Given the description of an element on the screen output the (x, y) to click on. 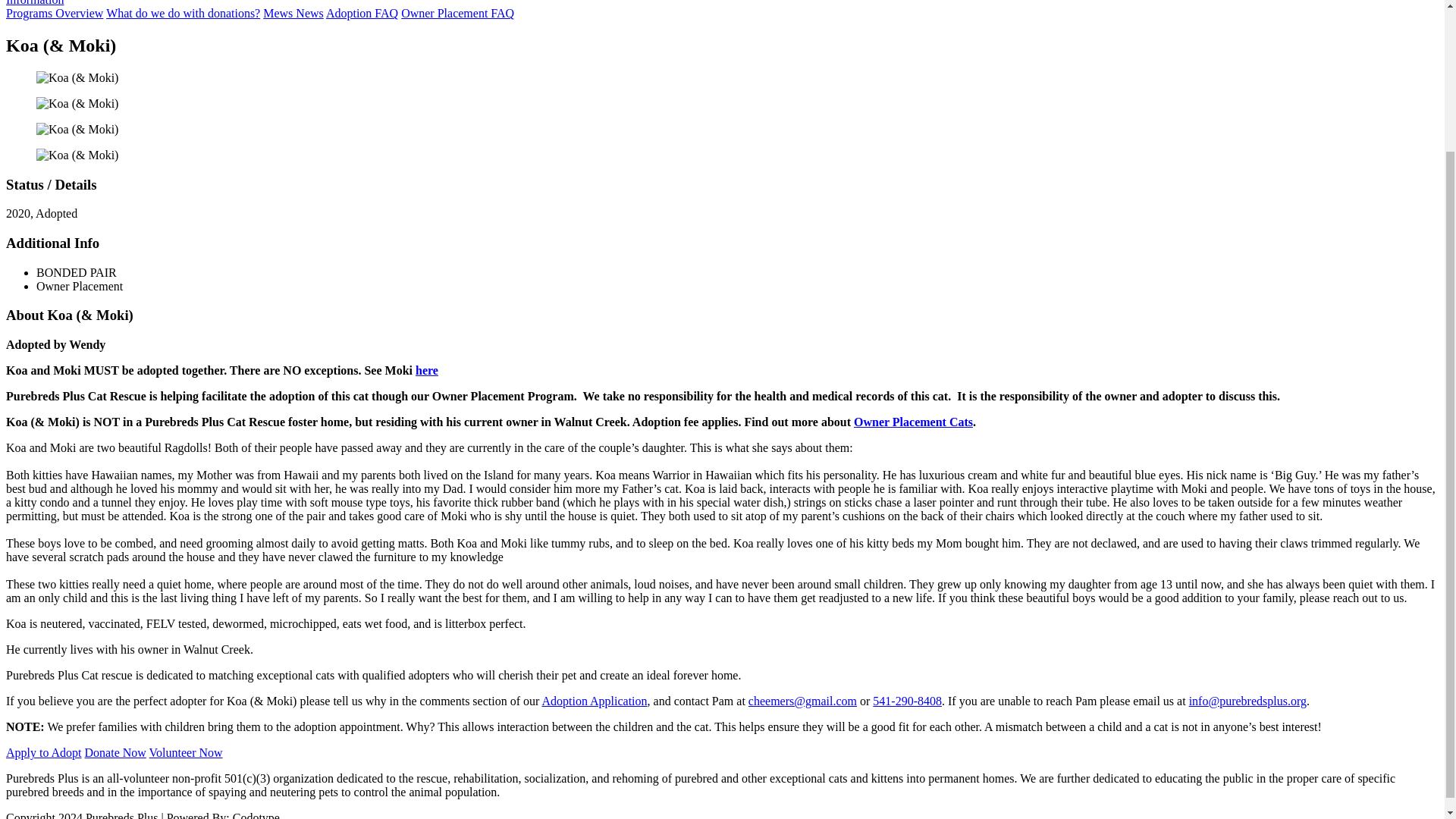
Information (34, 2)
Donate Now (115, 752)
Adoption FAQ (361, 12)
541-290-8408 (907, 700)
What do we do with donations? (183, 12)
Mews News (293, 12)
Adoption Application (593, 700)
Apply to Adopt (43, 752)
Programs Overview (54, 12)
here (426, 369)
Owner Placement FAQ (457, 12)
Owner Placement Cats (912, 421)
